Given the description of an element on the screen output the (x, y) to click on. 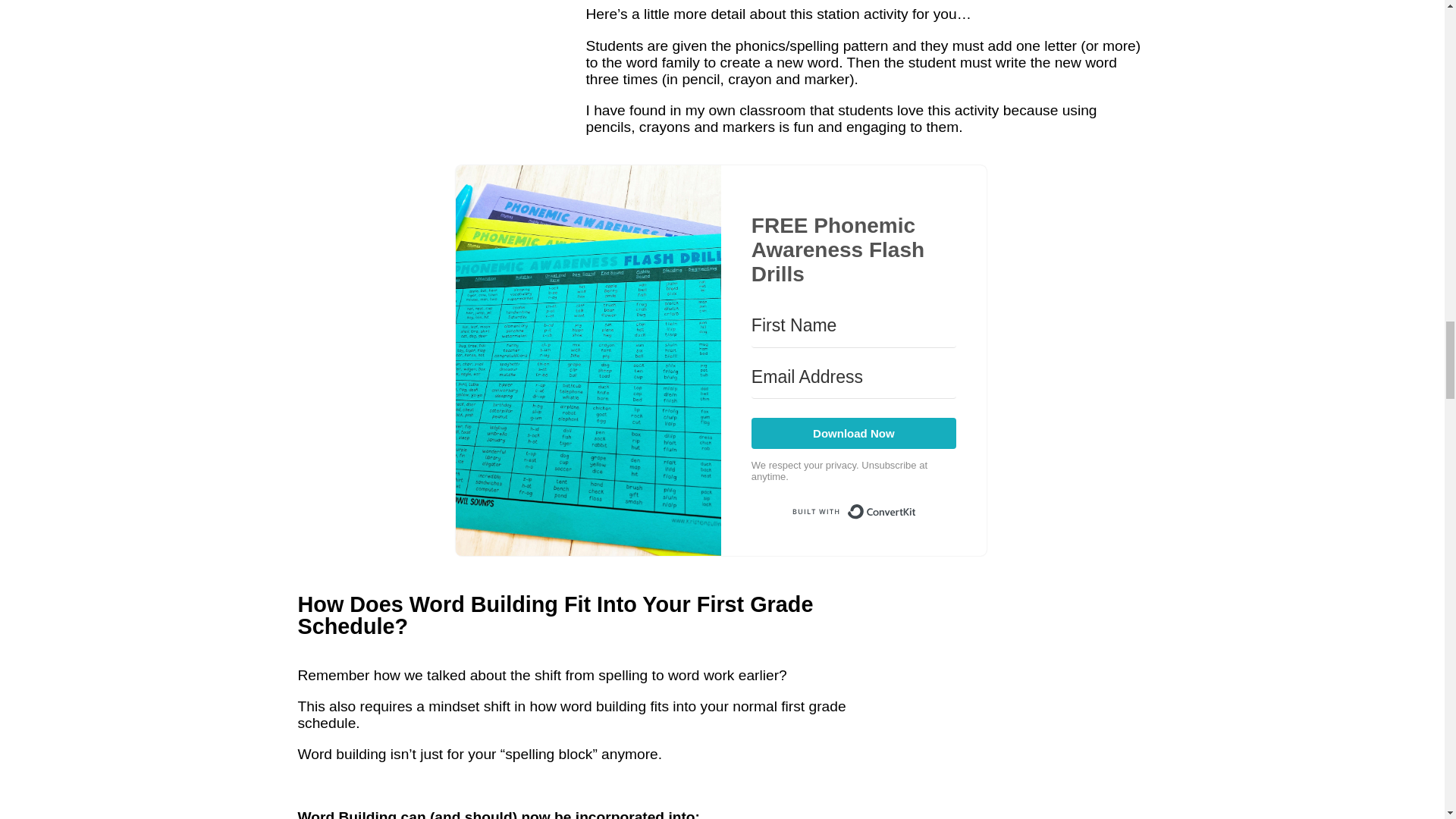
Built with ConvertKit (853, 511)
Download Now (853, 432)
